Given the description of an element on the screen output the (x, y) to click on. 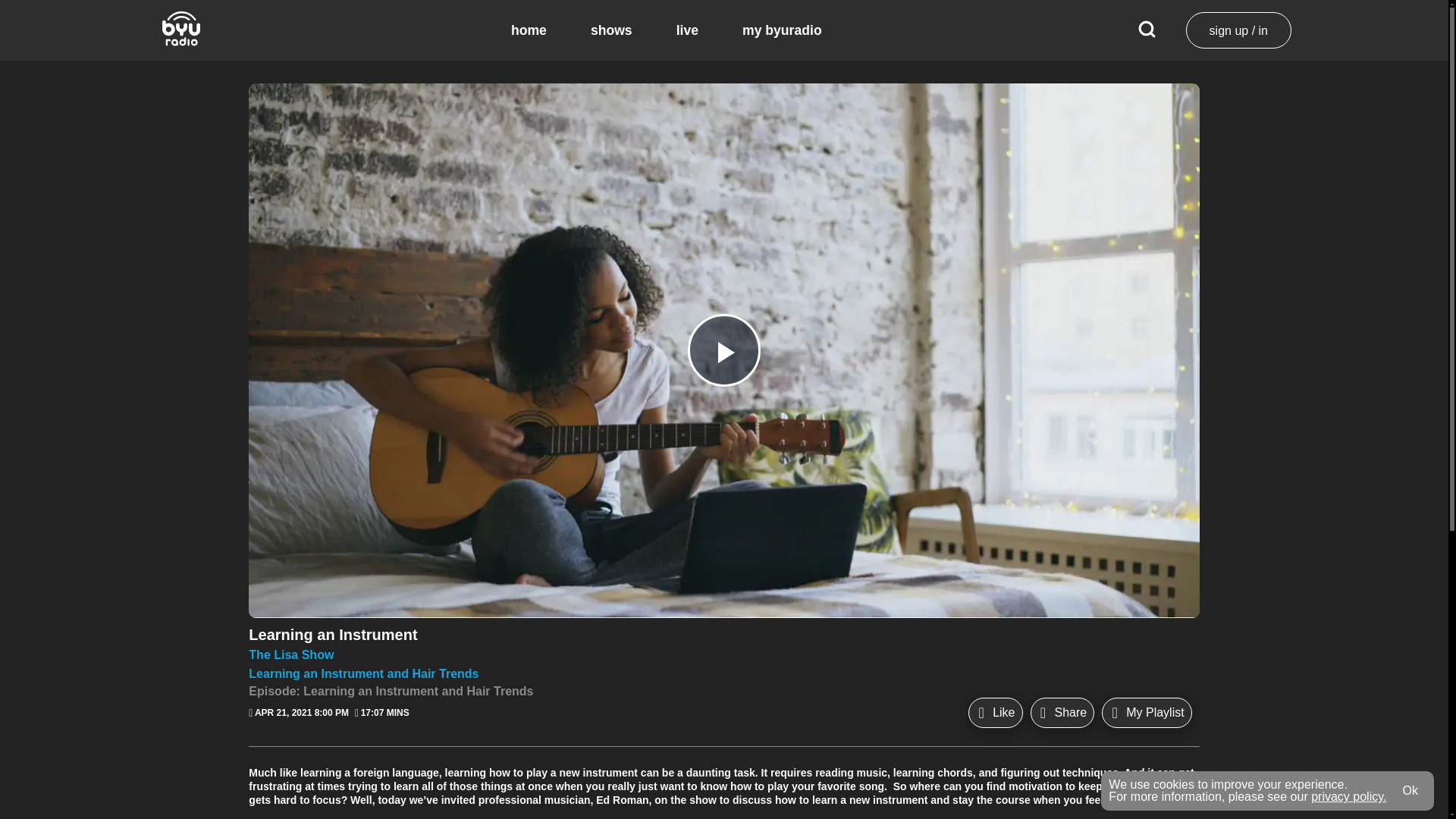
Play (723, 349)
shows (611, 30)
Like (995, 712)
Play (723, 349)
my byuradio (782, 30)
home (528, 30)
live (687, 30)
Share (1061, 712)
My Playlist (1146, 712)
Learning an Instrument and Hair Trends (723, 673)
